Given the description of an element on the screen output the (x, y) to click on. 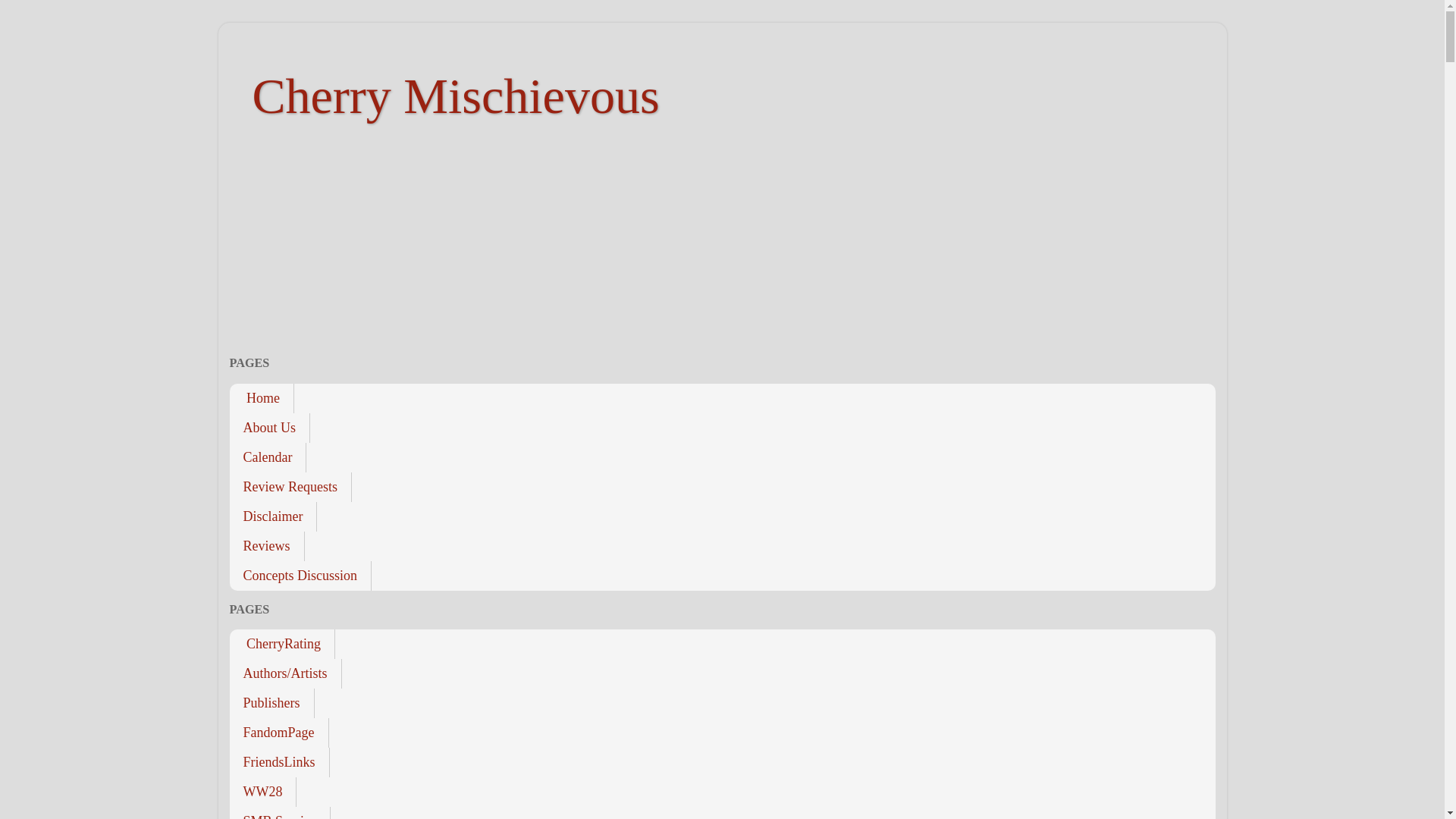
Cherry Mischievous (455, 95)
FriendsLinks (278, 762)
About Us (269, 427)
Disclaimer (272, 516)
Reviews (266, 545)
SMB Service (279, 812)
Review Requests (289, 486)
Calendar (266, 457)
WW28 (262, 791)
FandomPage (278, 732)
Publishers (271, 703)
CherryRating (281, 644)
Home (261, 398)
Concepts Discussion (299, 575)
